Given the description of an element on the screen output the (x, y) to click on. 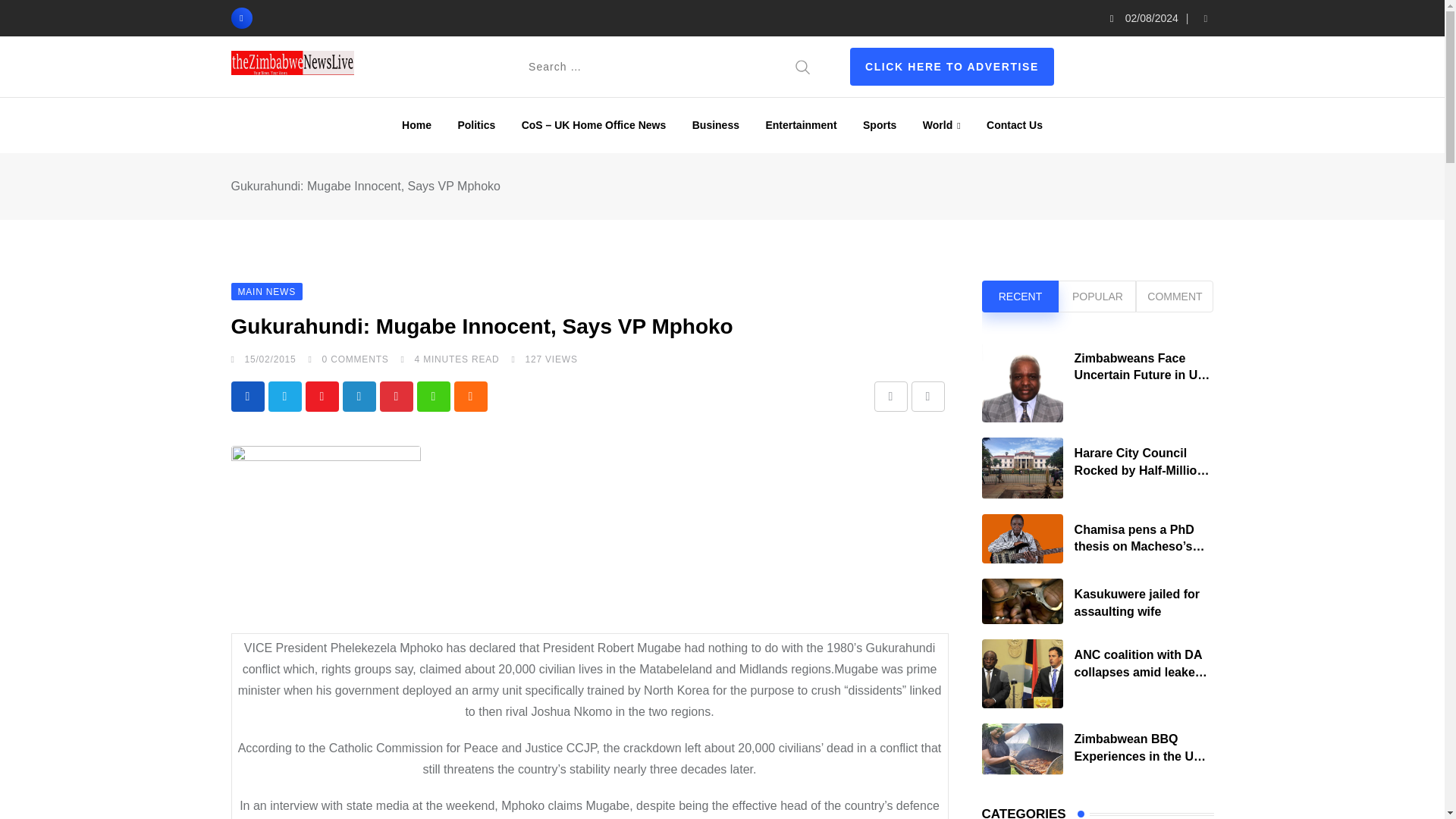
Kasukuwere jailed for assaulting wife (1021, 601)
